Given the description of an element on the screen output the (x, y) to click on. 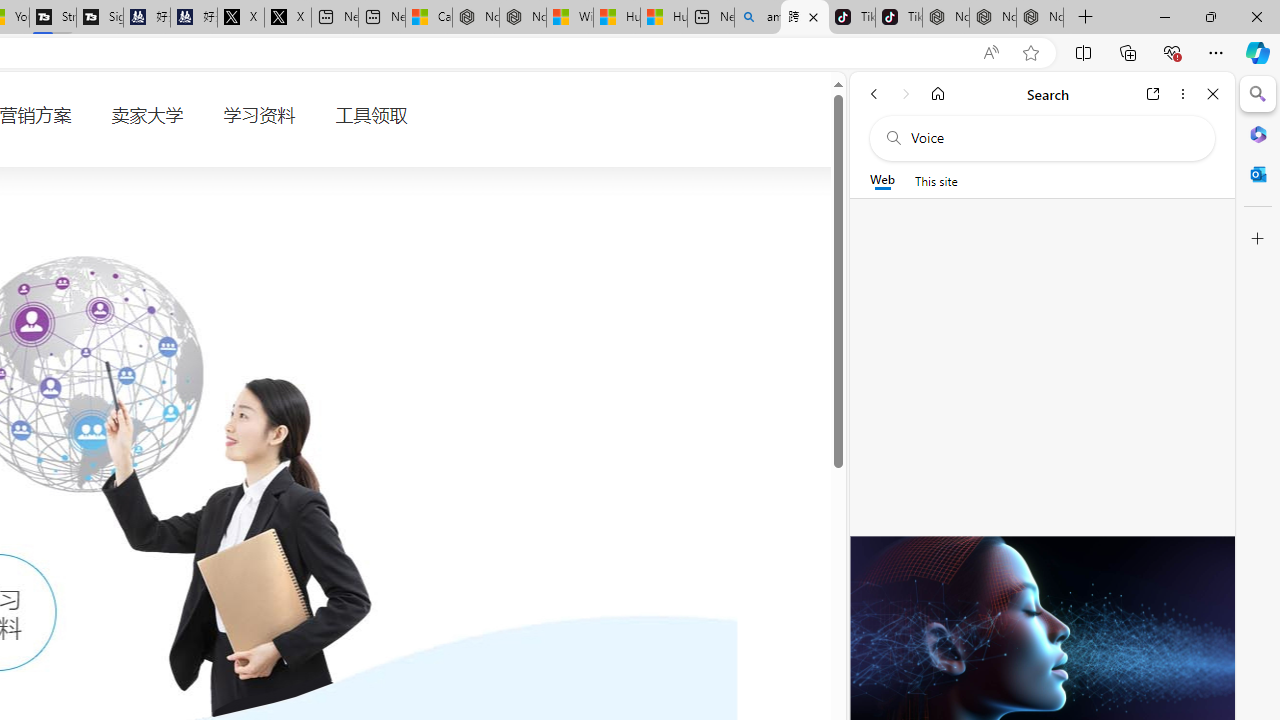
Web scope (882, 180)
Forward (906, 93)
Customize (1258, 239)
Nordace - Siena Pro 15 Essential Set (1040, 17)
Search the web (1051, 137)
This site scope (936, 180)
